Given the description of an element on the screen output the (x, y) to click on. 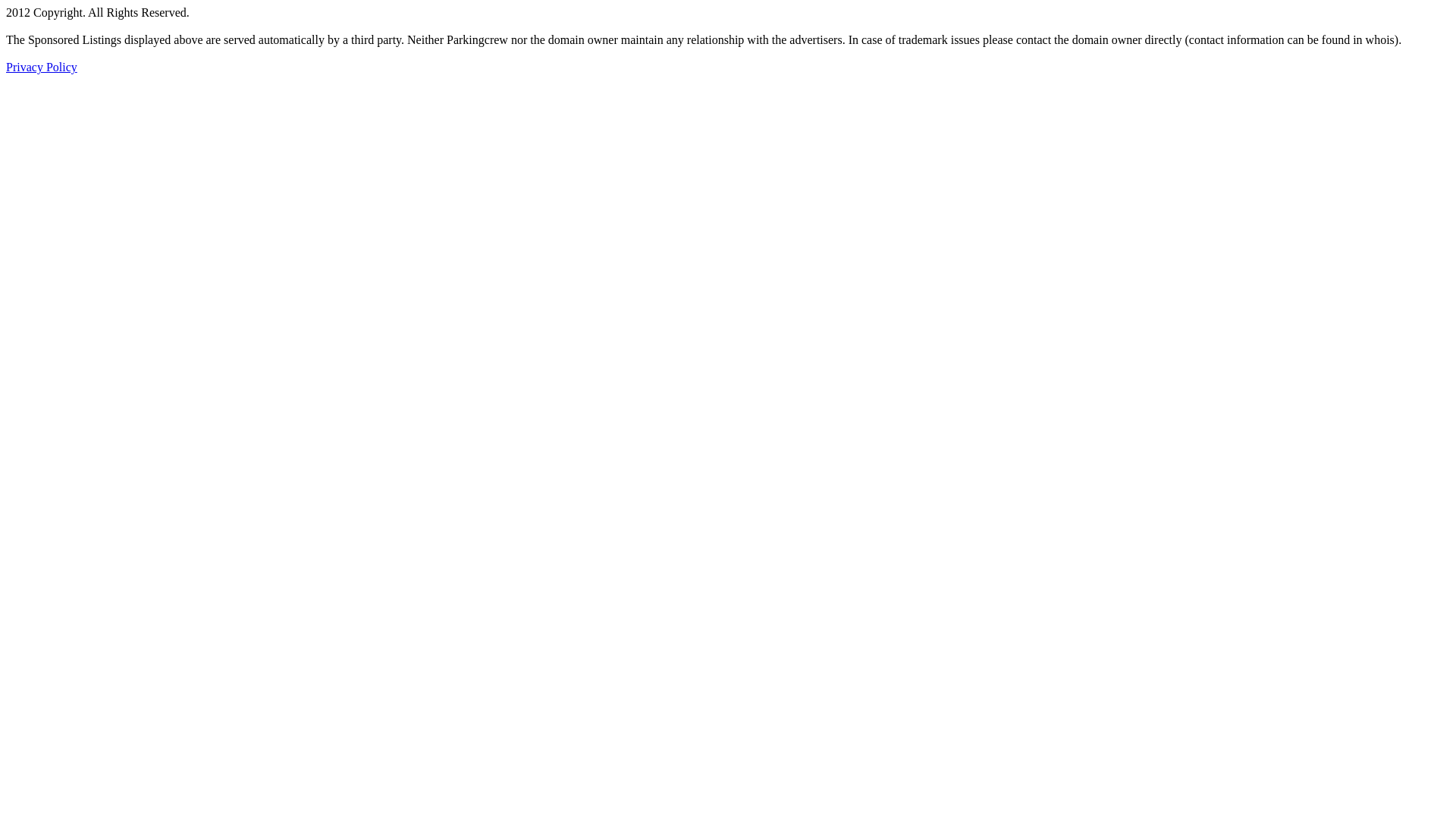
Privacy Policy Element type: text (41, 66)
